Given the description of an element on the screen output the (x, y) to click on. 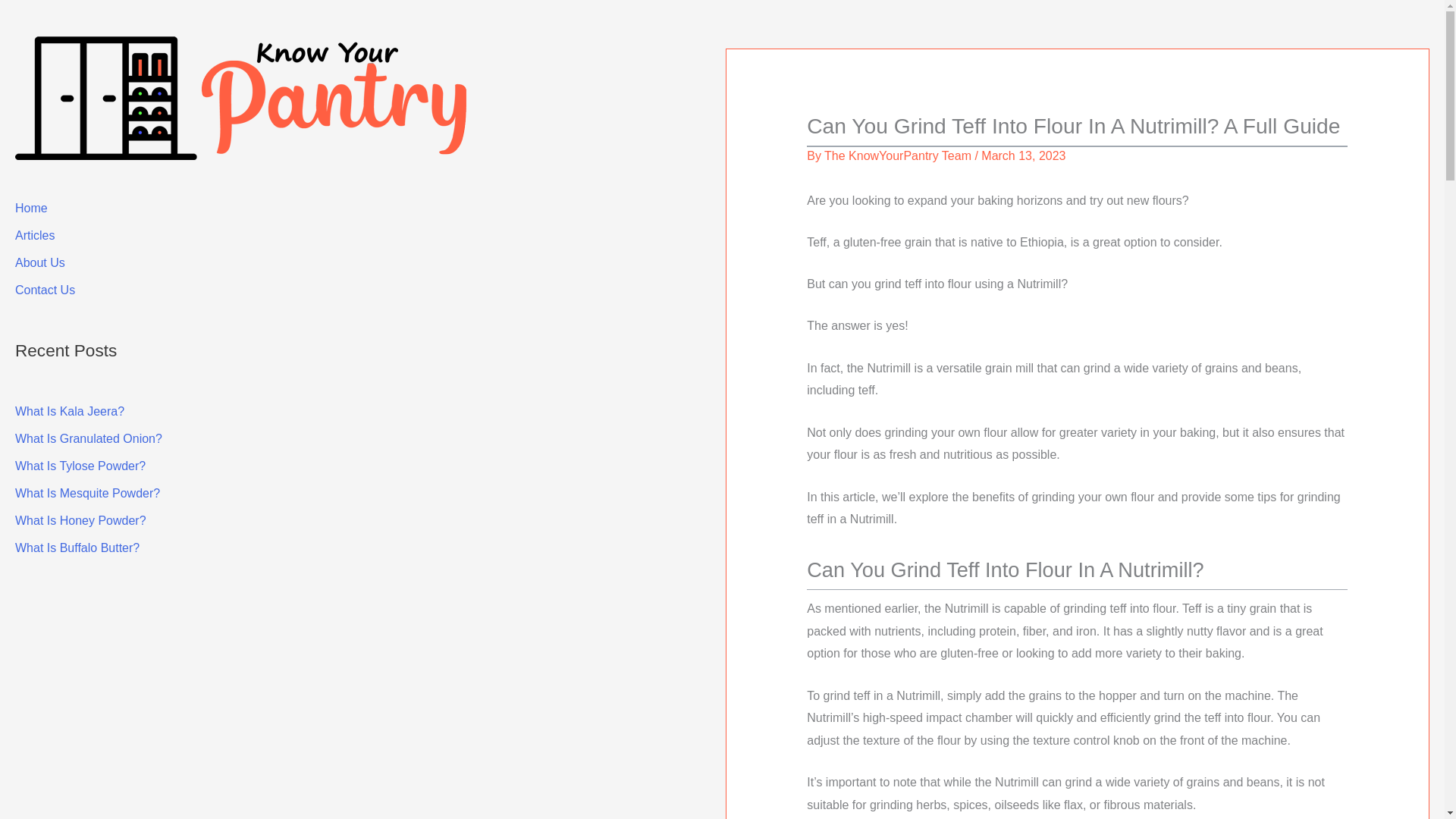
View all posts by The KnowYourPantry Team (897, 155)
What Is Honey Powder? (80, 520)
What Is Mesquite Powder? (87, 492)
What Is Kala Jeera? (68, 410)
Contact Us (44, 289)
About Us (39, 262)
The KnowYourPantry Team (897, 155)
Articles (34, 235)
What Is Buffalo Butter? (76, 547)
What Is Tylose Powder? (79, 465)
Home (31, 207)
What Is Granulated Onion? (87, 438)
